Given the description of an element on the screen output the (x, y) to click on. 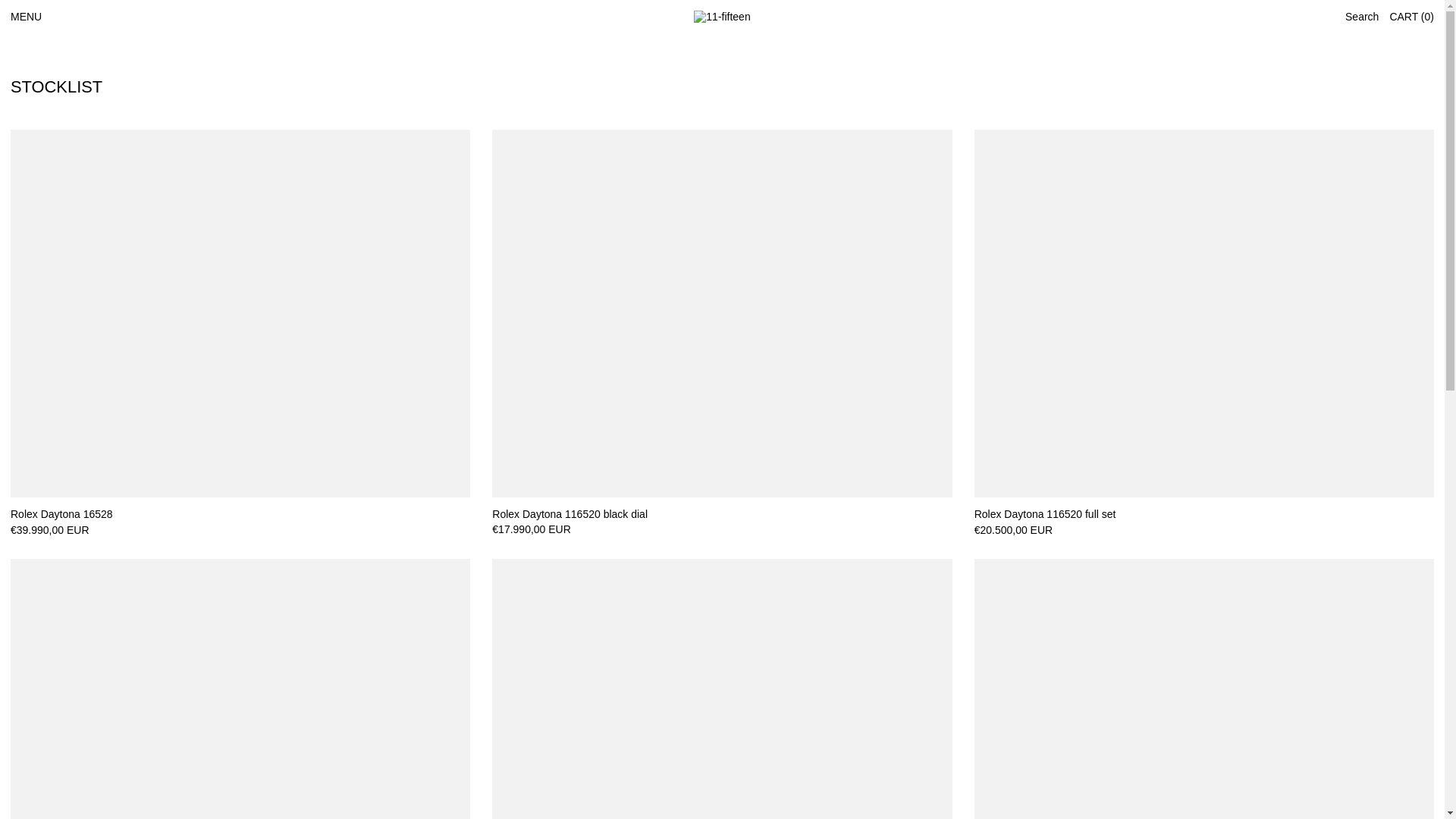
CART (0) Element type: text (1411, 16)
MENU Element type: text (25, 16)
Search Element type: text (1361, 16)
